Given the description of an element on the screen output the (x, y) to click on. 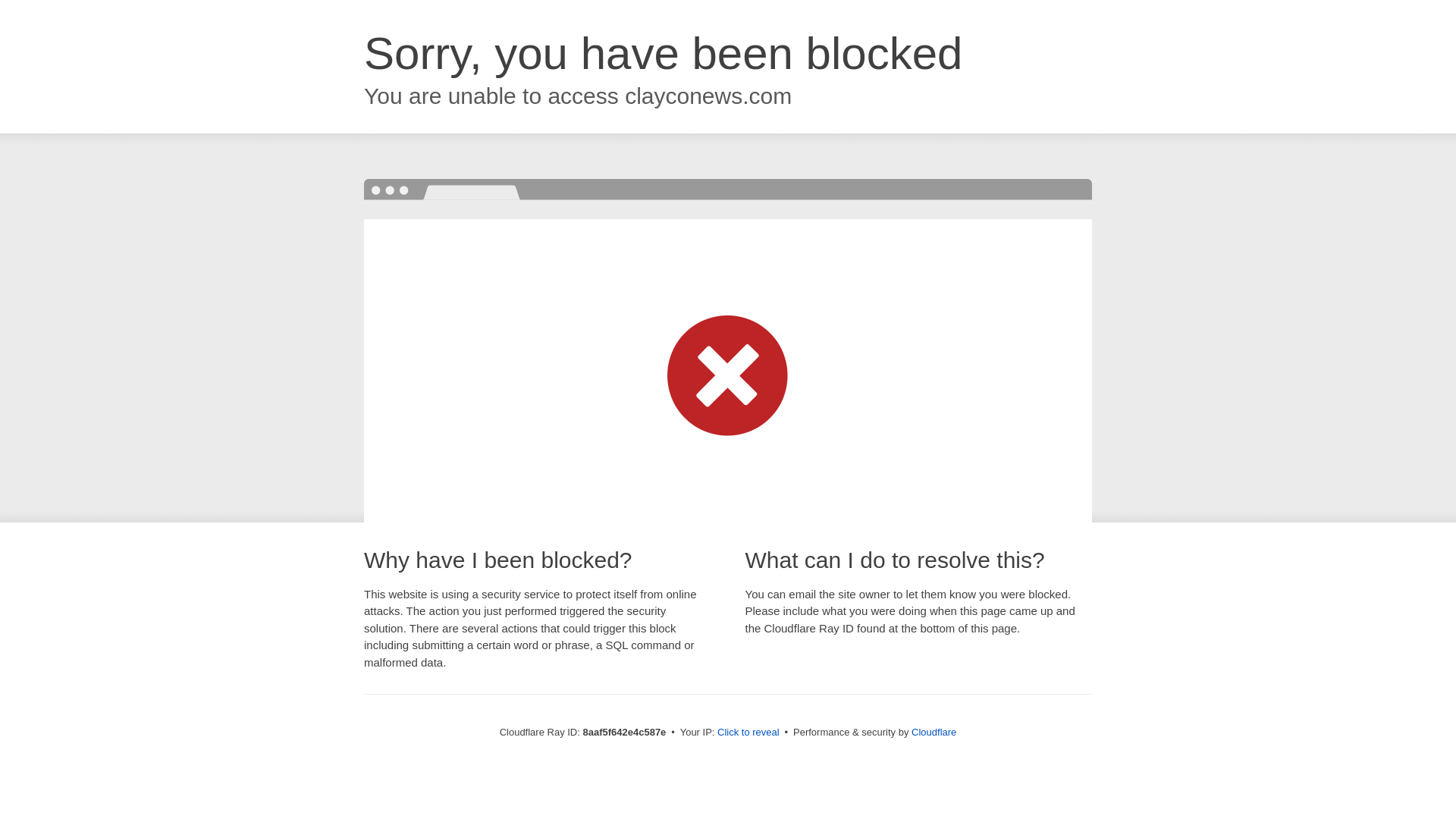
Cloudflare (933, 731)
Click to reveal (747, 732)
